Given the description of an element on the screen output the (x, y) to click on. 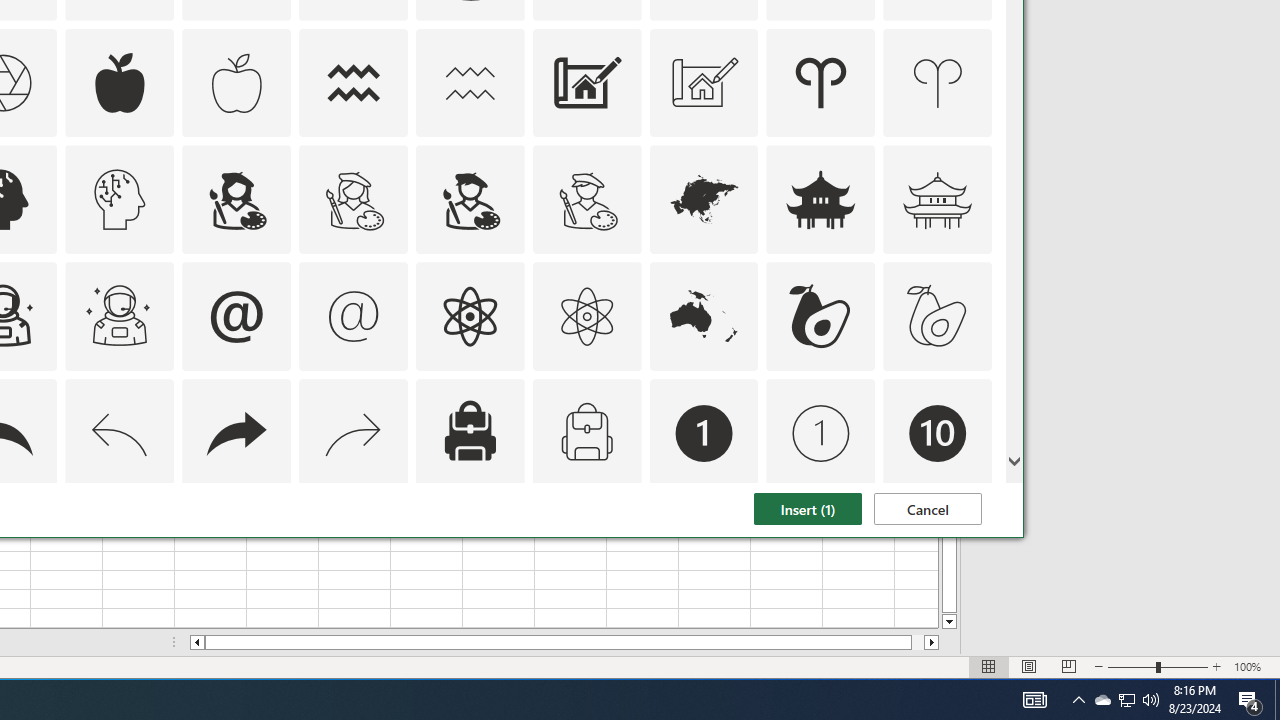
AutomationID: Icons_Badge1_M (820, 434)
AutomationID: Icons_AsianTemple (820, 200)
AutomationID: Icons_Back_LTR_M (1126, 699)
AutomationID: Icons_Badge1 (120, 434)
AutomationID: Icons_AstronautMale_M (703, 434)
AutomationID: Icons_Backpack (120, 316)
